Given the description of an element on the screen output the (x, y) to click on. 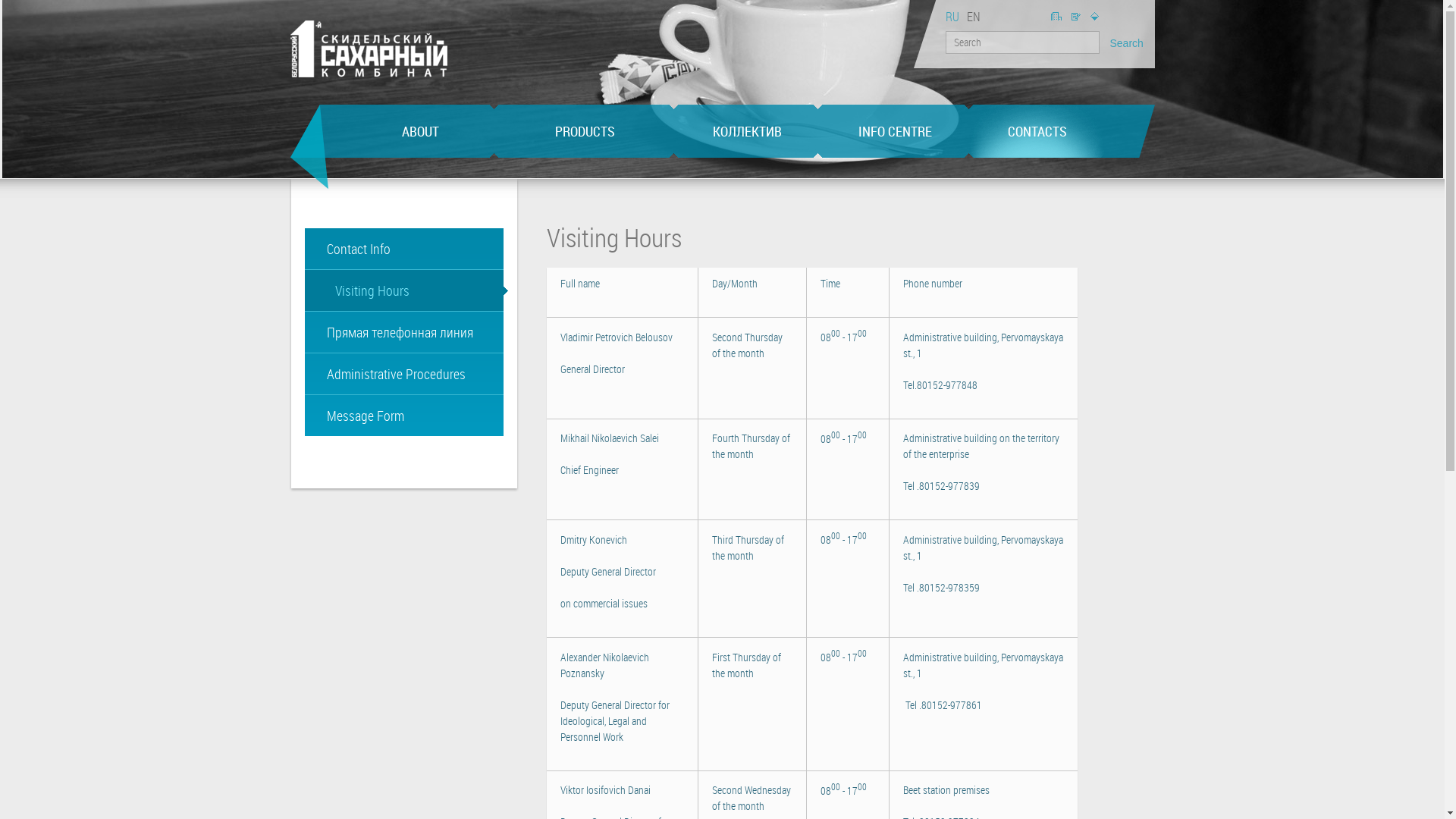
Home page Element type: hover (367, 48)
Search Element type: text (1124, 41)
Site map Element type: text (1093, 16)
Home page Element type: text (1056, 16)
Message Form Element type: text (403, 415)
Contact Info Element type: text (403, 248)
Search Element type: hover (1124, 41)
RU Element type: text (951, 16)
ABOUT Element type: text (420, 130)
PRODUCTS Element type: text (584, 130)
Administrative Procedures Element type: text (403, 373)
INFO CENTRE Element type: text (894, 130)
Write to us Element type: text (1075, 16)
